Given the description of an element on the screen output the (x, y) to click on. 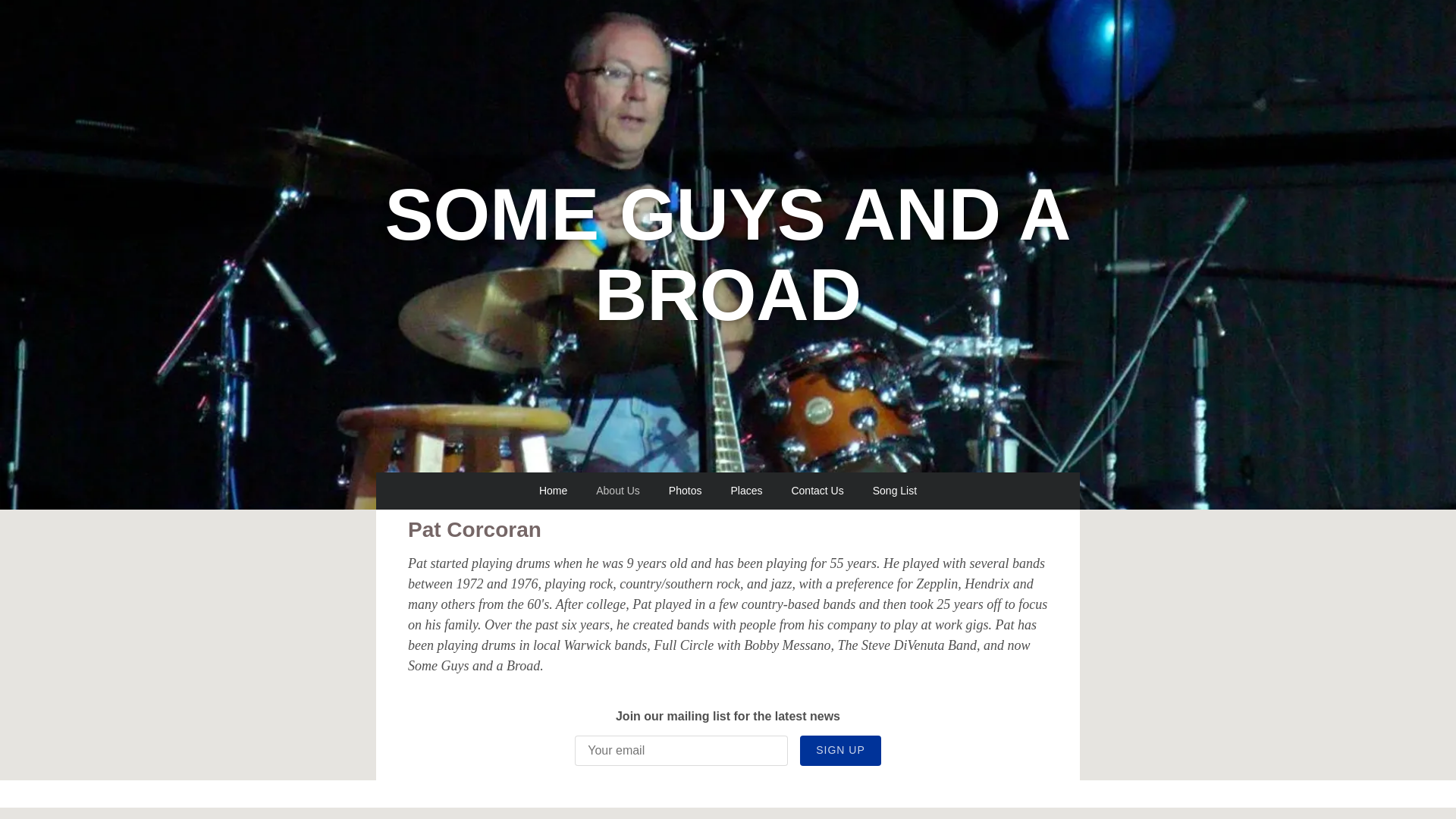
SOME GUYS AND A BROAD (727, 312)
Home (553, 490)
Photos (685, 490)
Contact Us (816, 490)
SIGN UP (839, 750)
Song List (894, 490)
Places (746, 490)
About Us (617, 490)
